Given the description of an element on the screen output the (x, y) to click on. 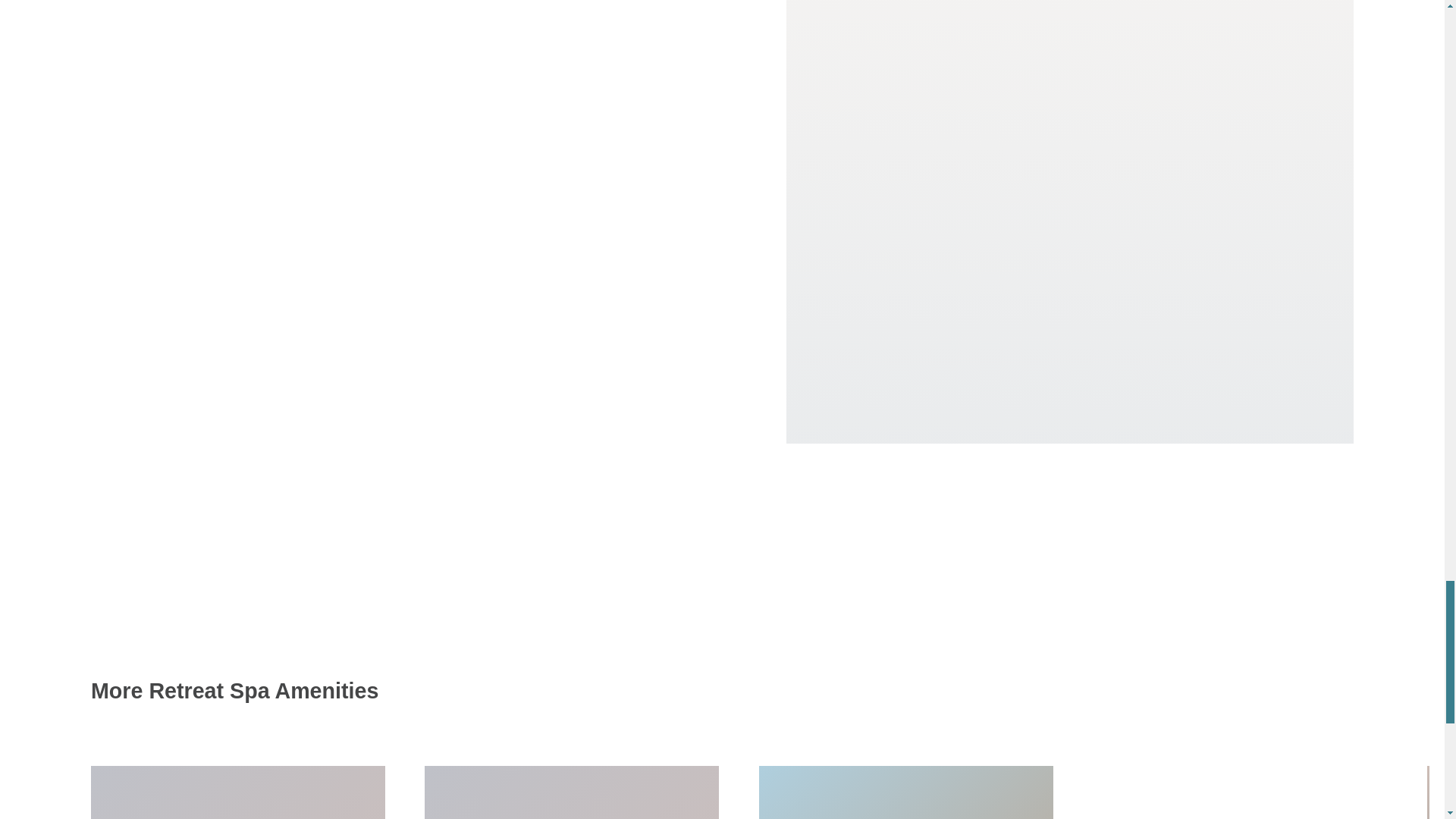
LAVA COVE - A HIDDEN SPA (905, 792)
THE BLUE LAGOON RITUAL (237, 792)
THE RETREAT LAGOON (1240, 792)
